Given the description of an element on the screen output the (x, y) to click on. 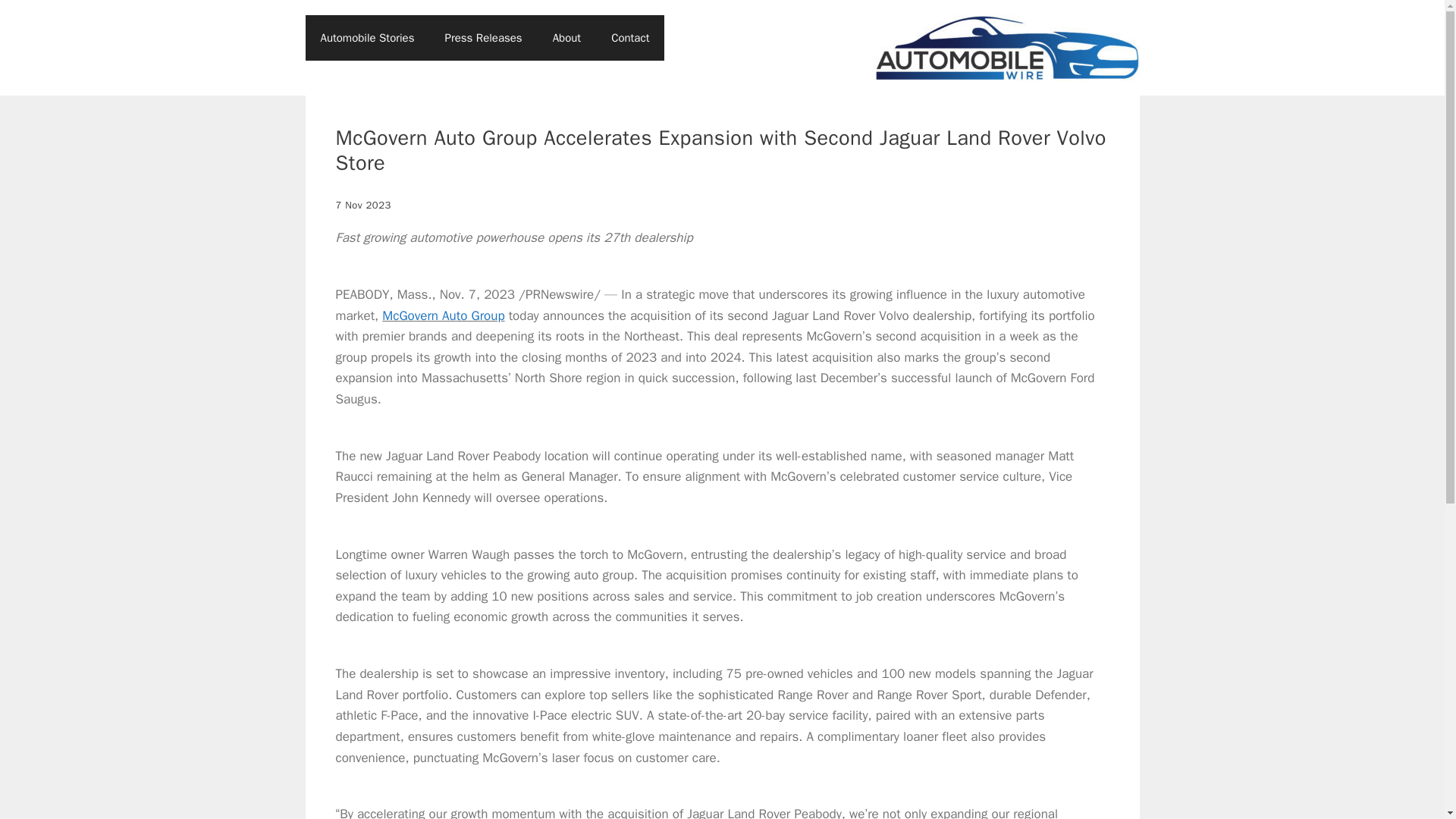
McGovern Auto Group (442, 315)
Contact (629, 37)
Automobile Stories (366, 37)
Press Releases (483, 37)
About (566, 37)
